Given the description of an element on the screen output the (x, y) to click on. 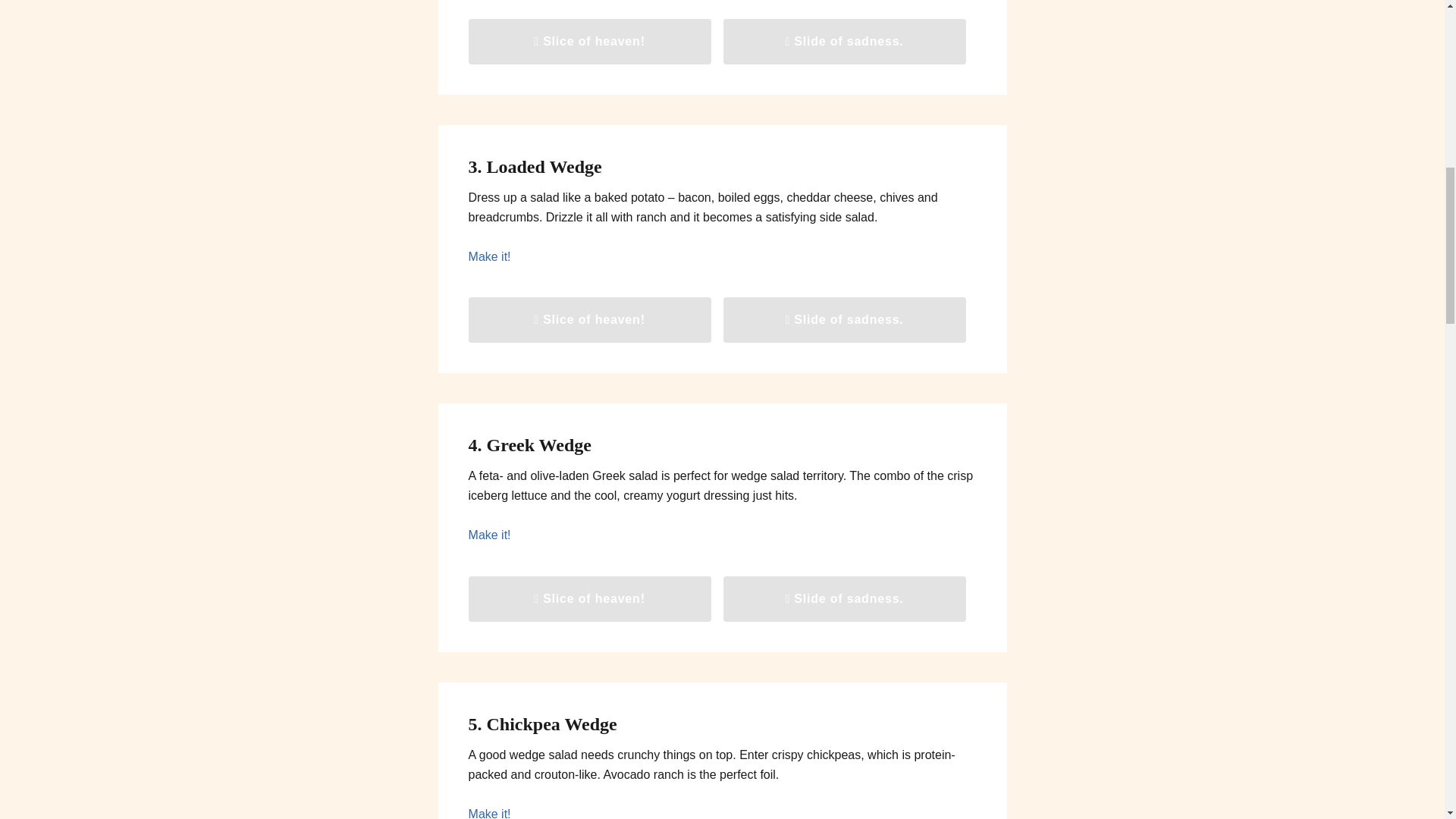
Slice of heaven! (589, 598)
Make it! (489, 534)
Slice of heaven! (589, 320)
Slide of sadness. (844, 41)
Slide of sadness. (844, 598)
Slice of heaven! (589, 41)
Slide of sadness. (844, 320)
Make it! (489, 256)
Make it! (489, 813)
